Given the description of an element on the screen output the (x, y) to click on. 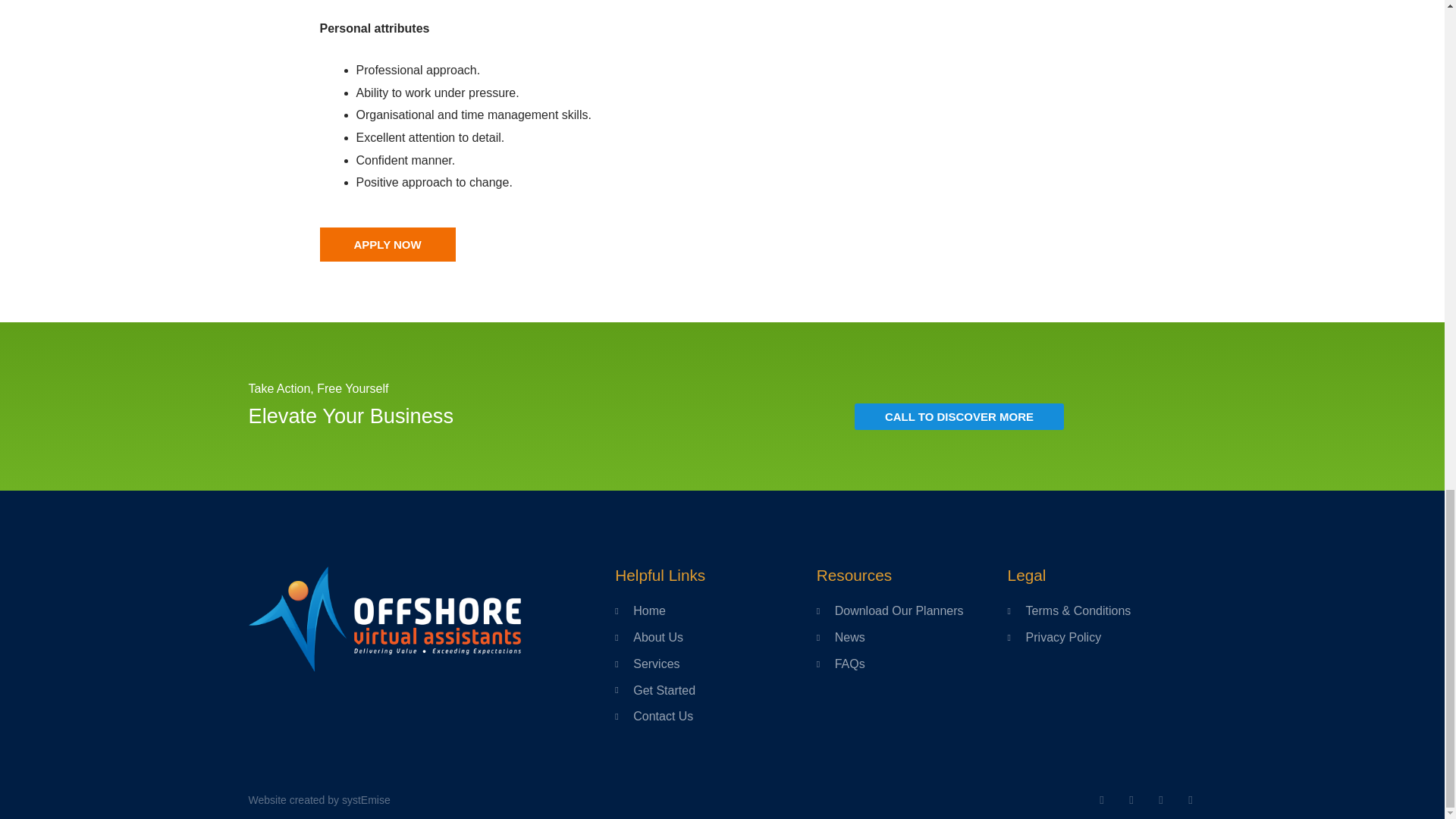
FAQs (911, 663)
Download Our Planners (911, 610)
APPLY NOW (387, 244)
About Us (714, 637)
Get Started (714, 690)
CALL TO DISCOVER MORE (959, 416)
Contact Us (714, 716)
News (911, 637)
Home (714, 610)
Privacy Policy (1101, 637)
